Given the description of an element on the screen output the (x, y) to click on. 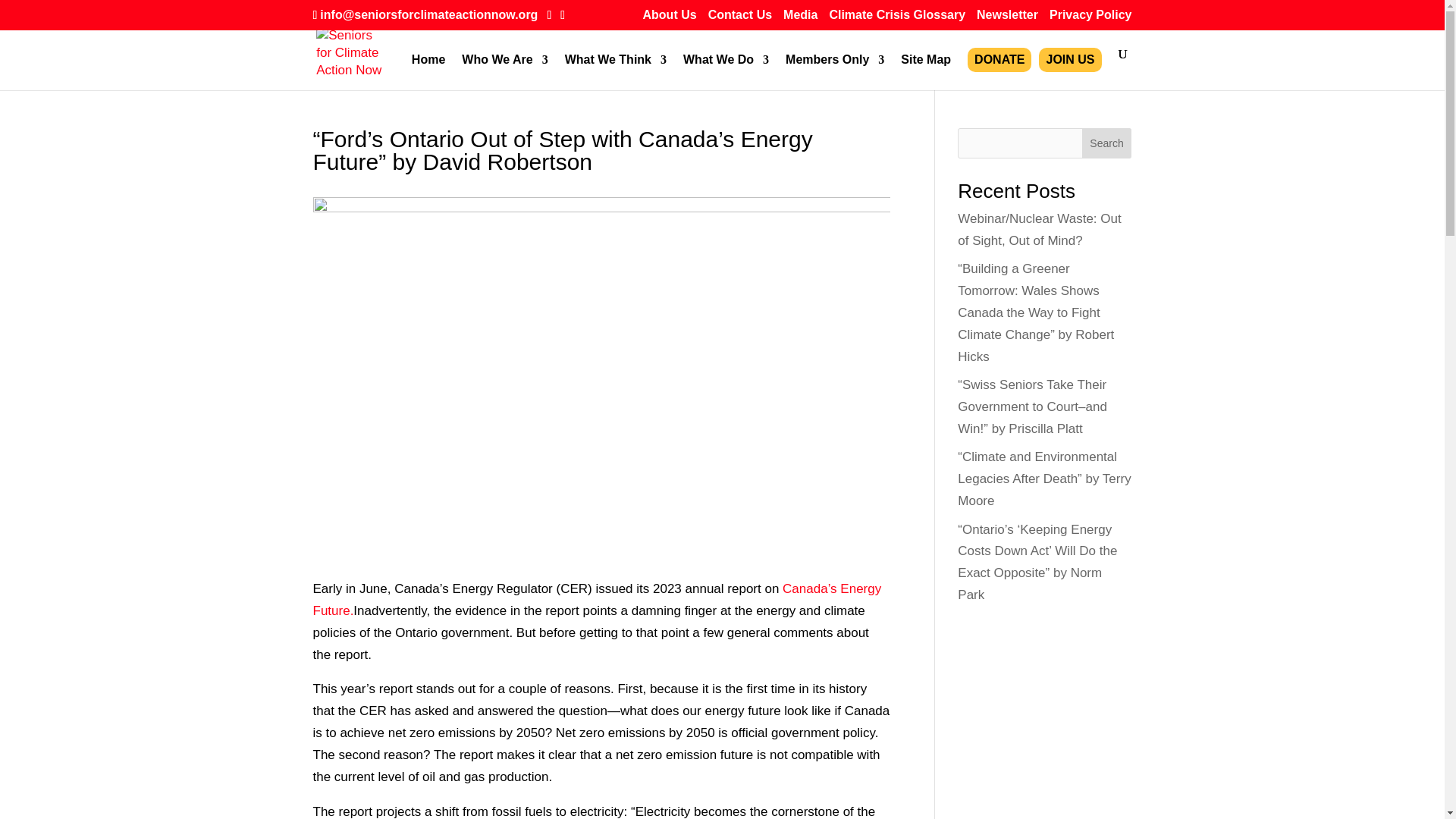
Who We Are (504, 72)
Newsletter (1007, 19)
Contact Us (739, 19)
Home (428, 72)
Media (799, 19)
What We Do (725, 72)
Privacy Policy (1090, 19)
Climate Crisis Glossary (896, 19)
About Us (670, 19)
What We Think (615, 72)
